Given the description of an element on the screen output the (x, y) to click on. 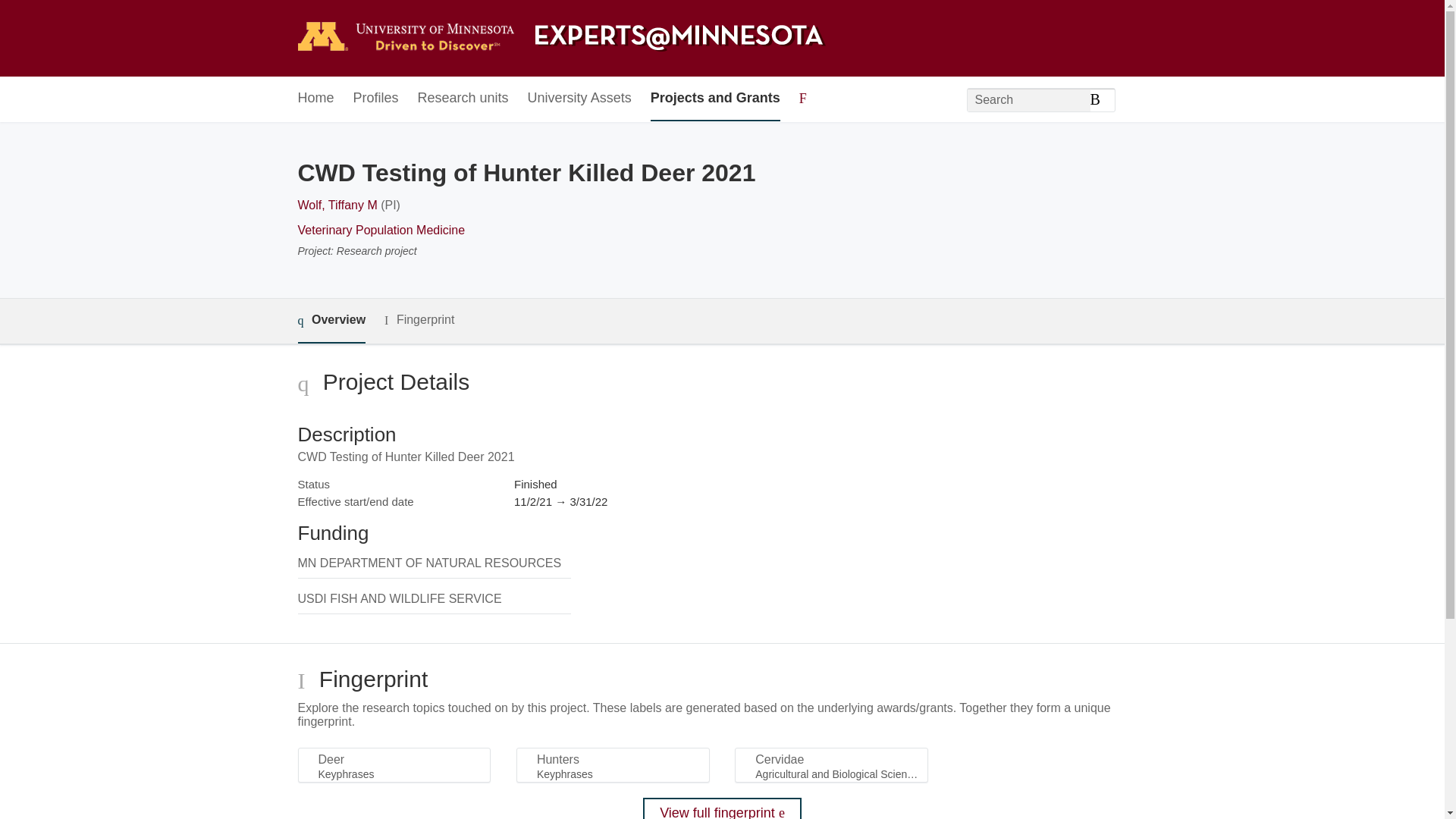
View full fingerprint (722, 808)
Projects and Grants (715, 98)
Profiles (375, 98)
Wolf, Tiffany M (337, 205)
Veterinary Population Medicine (380, 229)
Research units (462, 98)
Fingerprint (419, 320)
Overview (331, 320)
University Assets (579, 98)
